Given the description of an element on the screen output the (x, y) to click on. 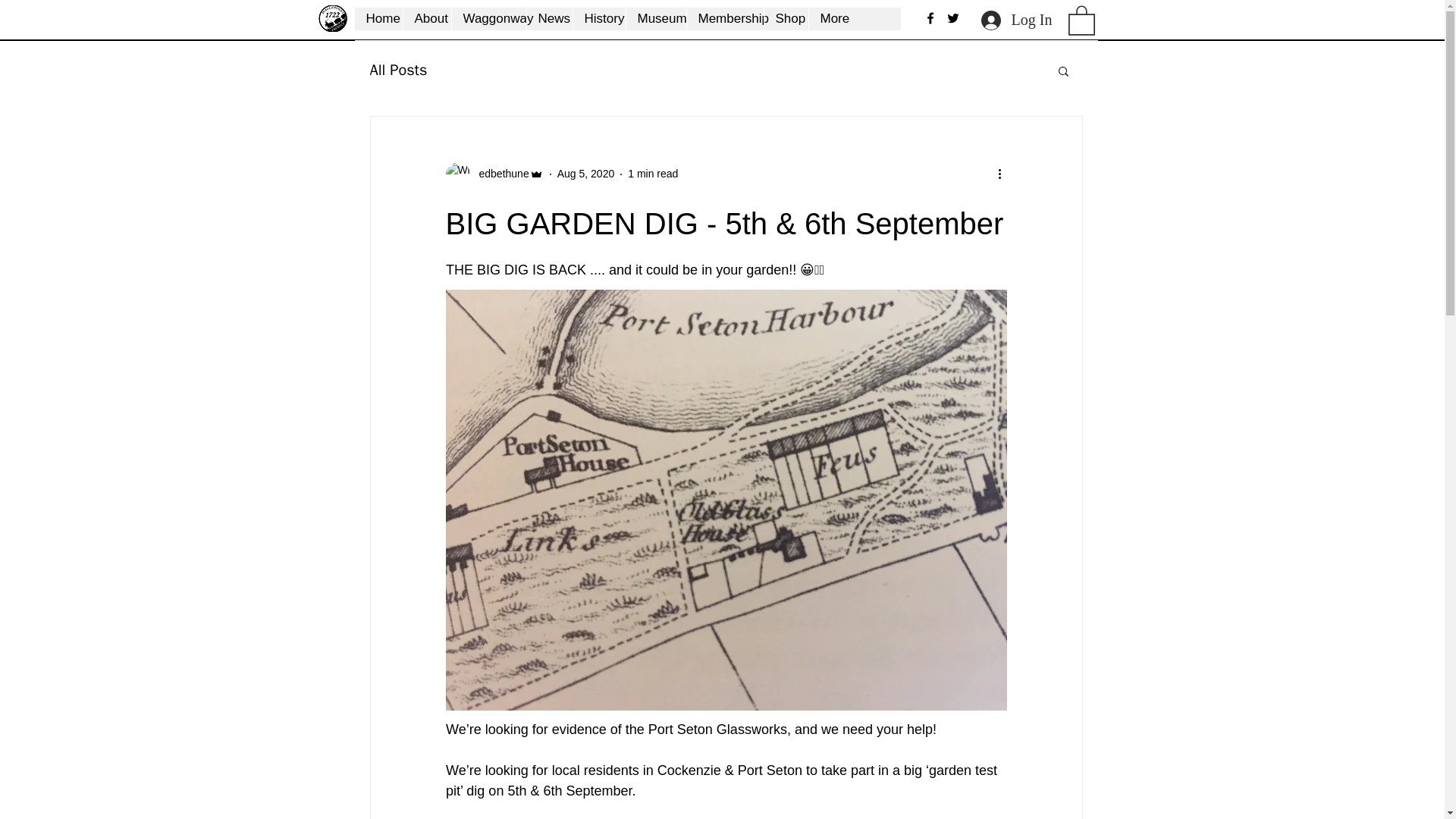
edbethune (494, 174)
History (598, 18)
1 min read (652, 173)
About (425, 18)
Membership (723, 18)
Log In (1016, 20)
Home (379, 18)
Aug 5, 2020 (585, 173)
News (548, 18)
Shop (785, 18)
